Given the description of an element on the screen output the (x, y) to click on. 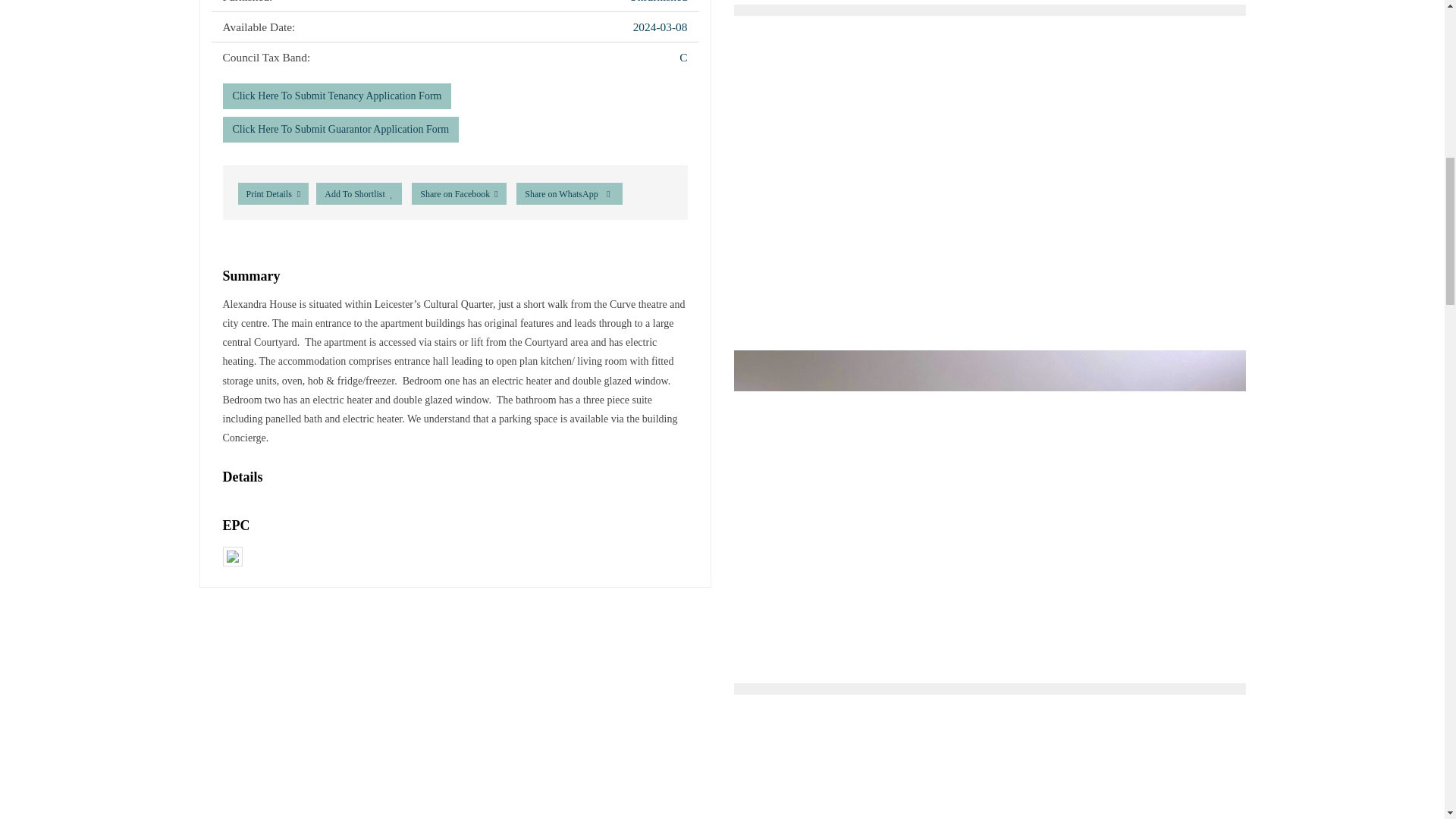
Click Here To Submit Tenancy Application Form (336, 95)
